Given the description of an element on the screen output the (x, y) to click on. 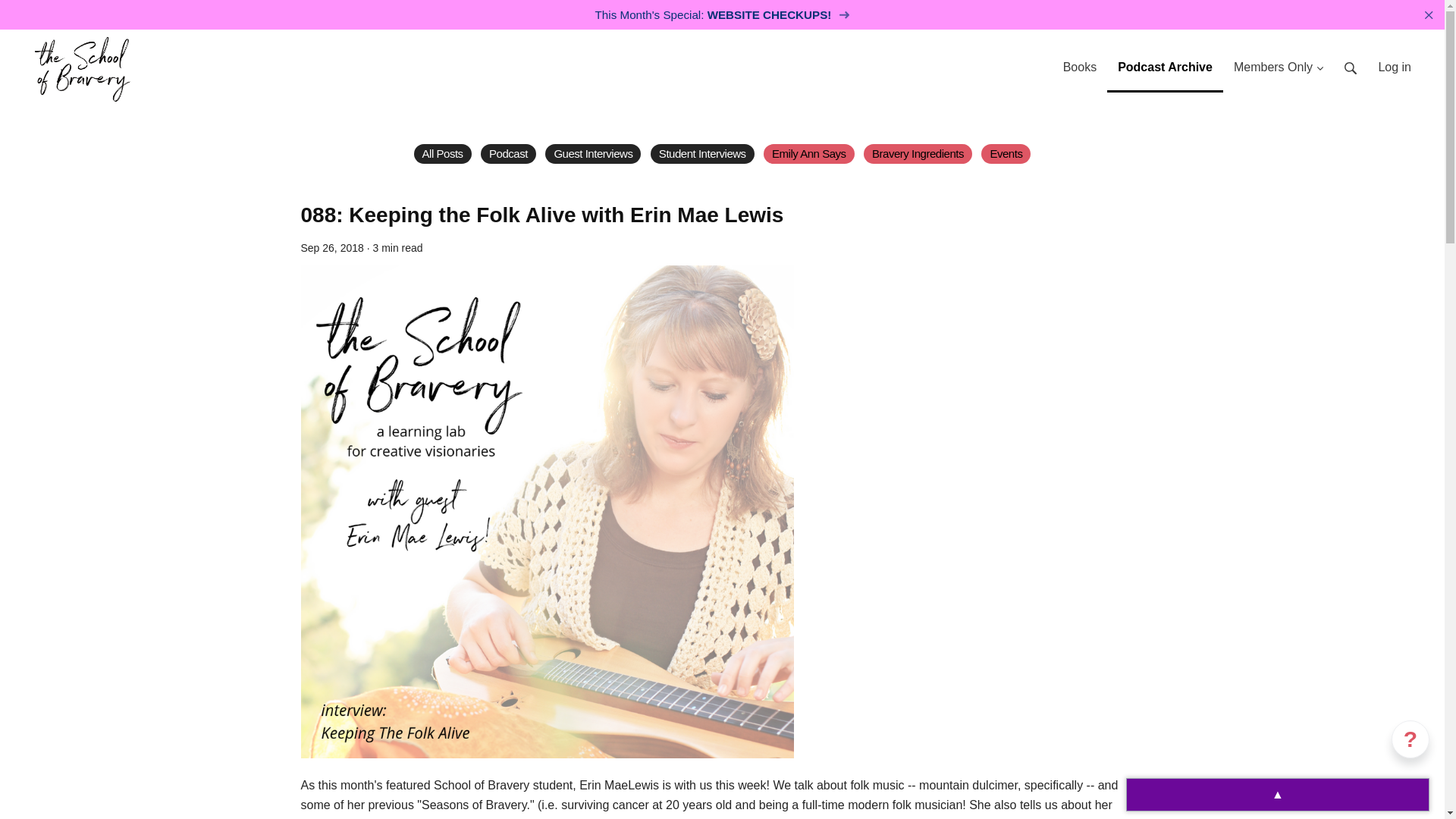
Members Only (1278, 60)
Guest Interviews (592, 153)
Student Interviews (702, 153)
Podcast (507, 153)
Emily Ann Says (808, 153)
All Posts (442, 153)
Bravery Ingredients (917, 153)
Events (1005, 153)
